Given the description of an element on the screen output the (x, y) to click on. 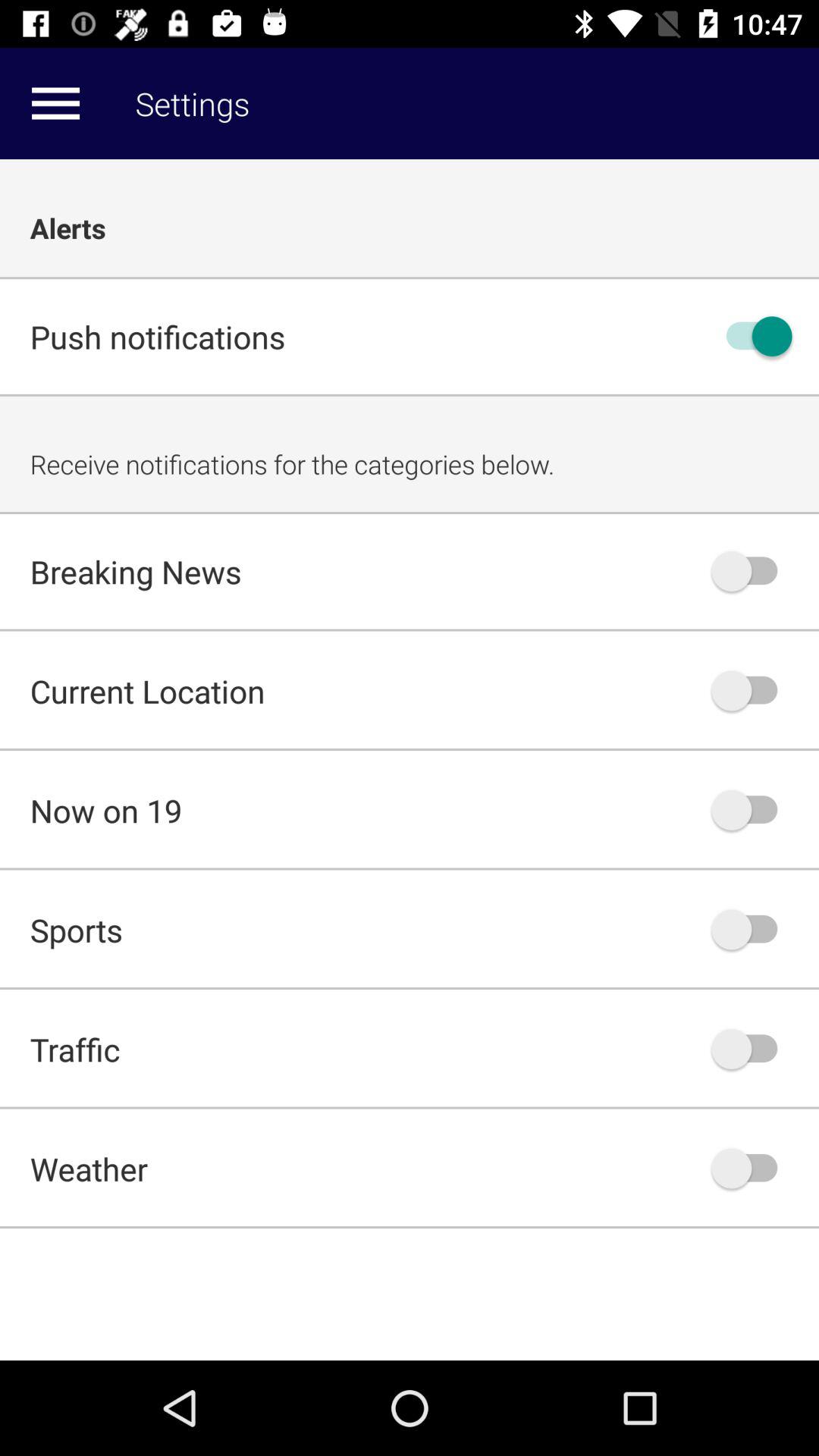
toggle now on 19 option (751, 810)
